Given the description of an element on the screen output the (x, y) to click on. 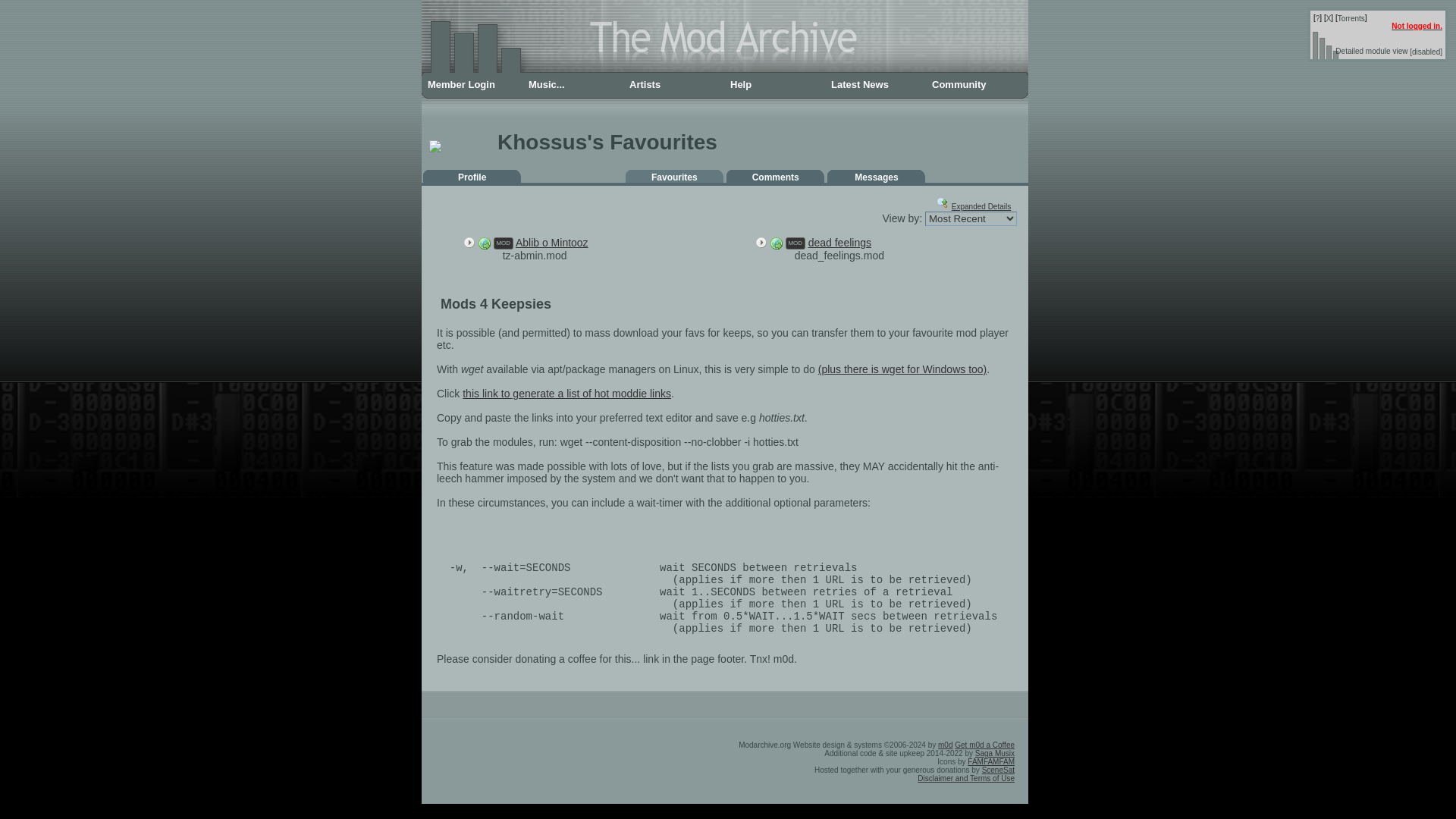
Member Login (472, 84)
Play (761, 242)
Download (776, 242)
Help (774, 84)
The Mod Archive Website, Since 1996 (724, 71)
Not logged in. (1416, 26)
Torrents (1351, 18)
Play (469, 242)
Music... (572, 84)
About Minibox  (1318, 18)
? (1318, 18)
Minimise Minibox! (1329, 18)
Download (484, 242)
Ablib o Mintooz (551, 242)
Modarchive Torrents (1351, 18)
